Given the description of an element on the screen output the (x, y) to click on. 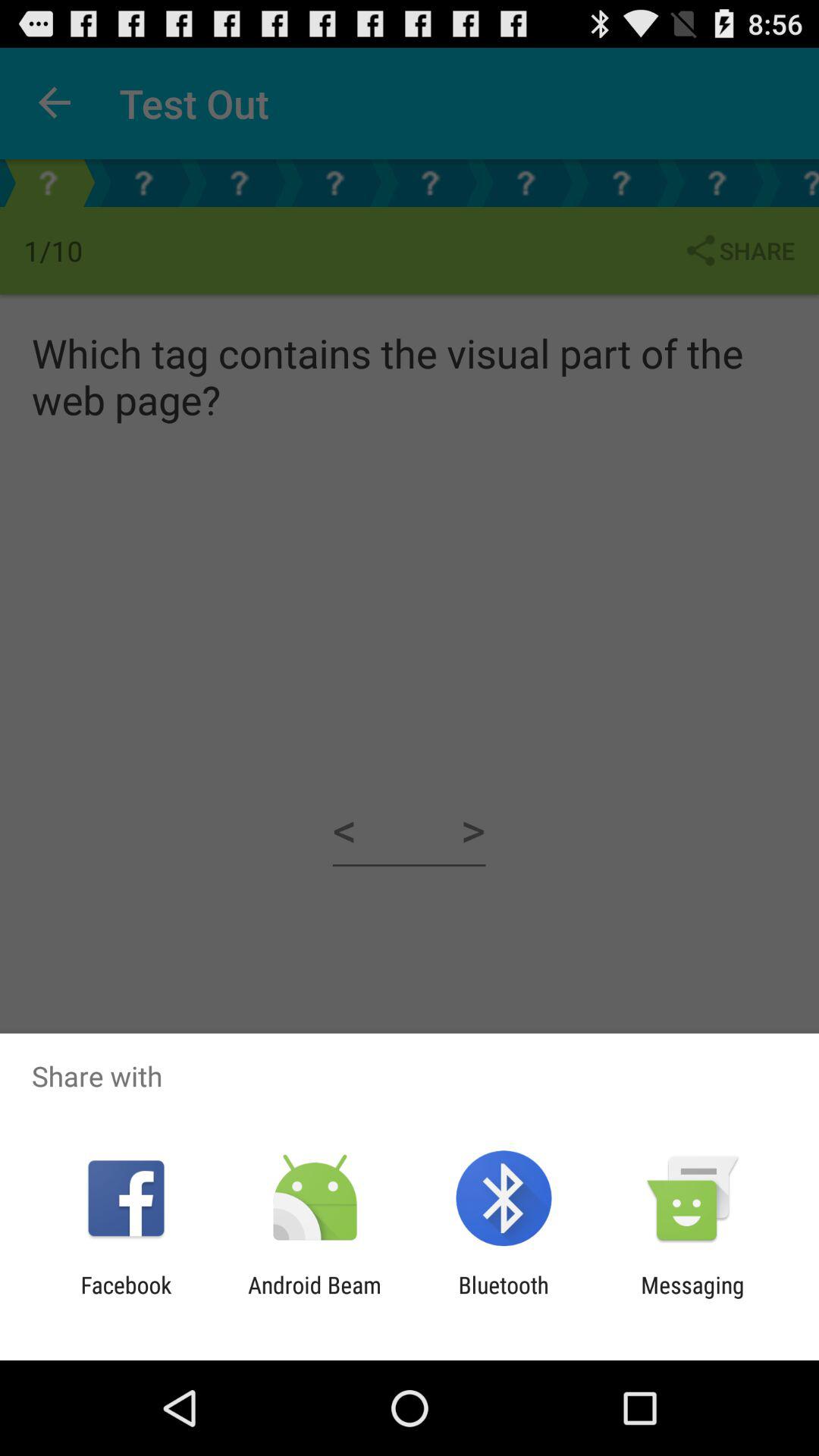
tap icon next to facebook app (314, 1298)
